Given the description of an element on the screen output the (x, y) to click on. 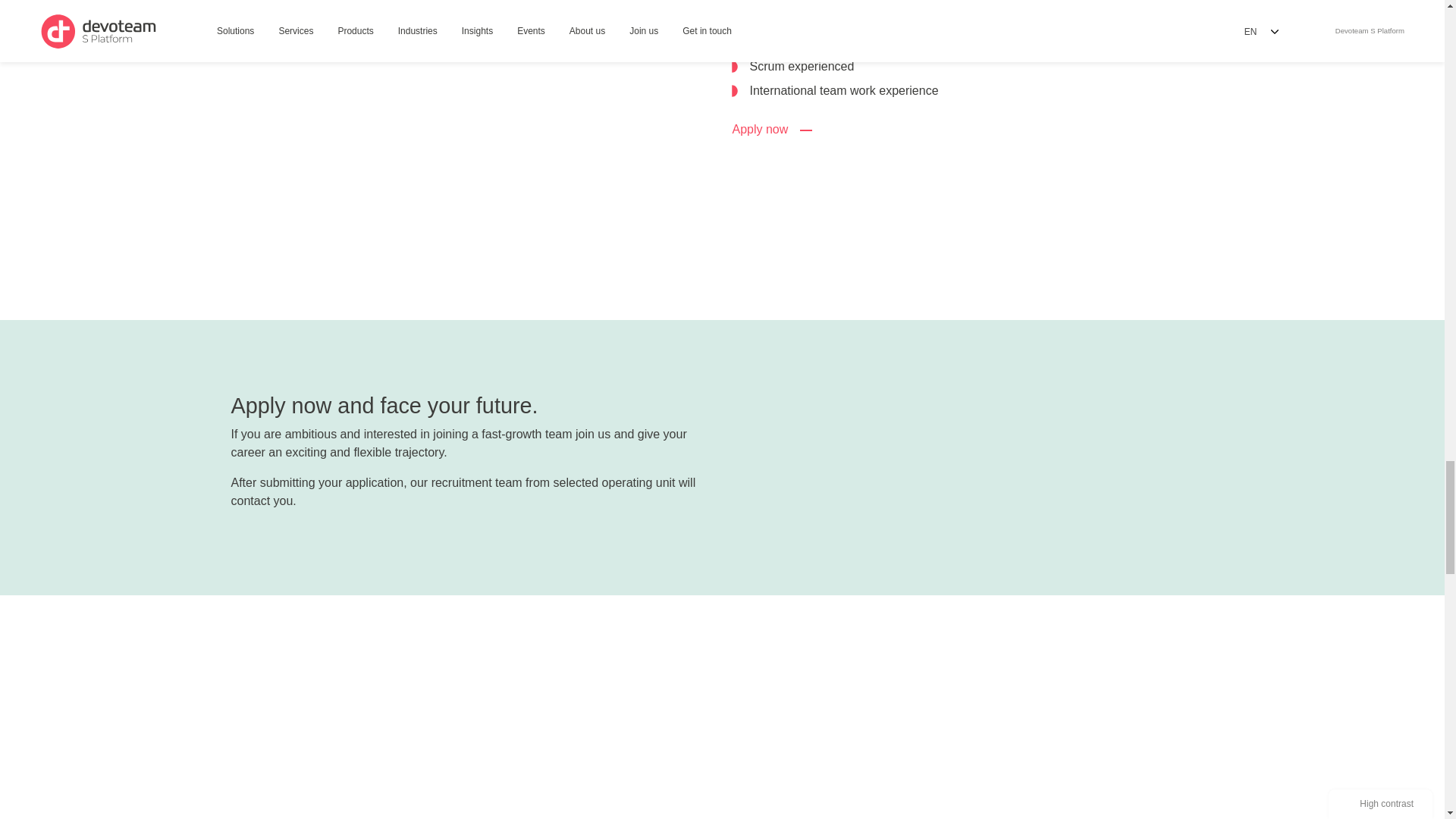
Apply now (774, 130)
